Given the description of an element on the screen output the (x, y) to click on. 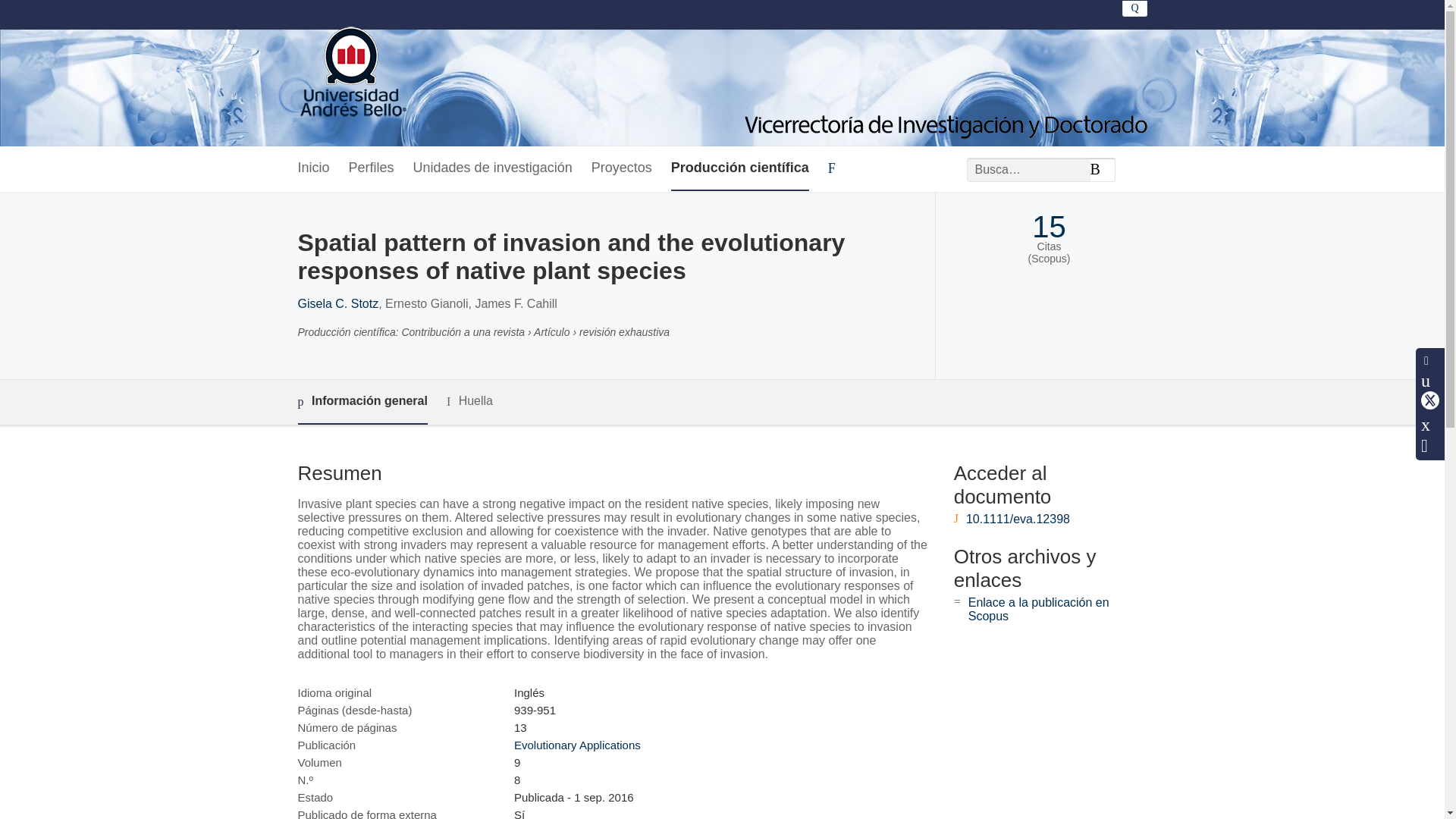
Gisela C. Stotz (337, 303)
Evolutionary Applications (576, 744)
Perfiles (371, 168)
Huella (469, 401)
15 (1048, 226)
Proyectos (621, 168)
